Given the description of an element on the screen output the (x, y) to click on. 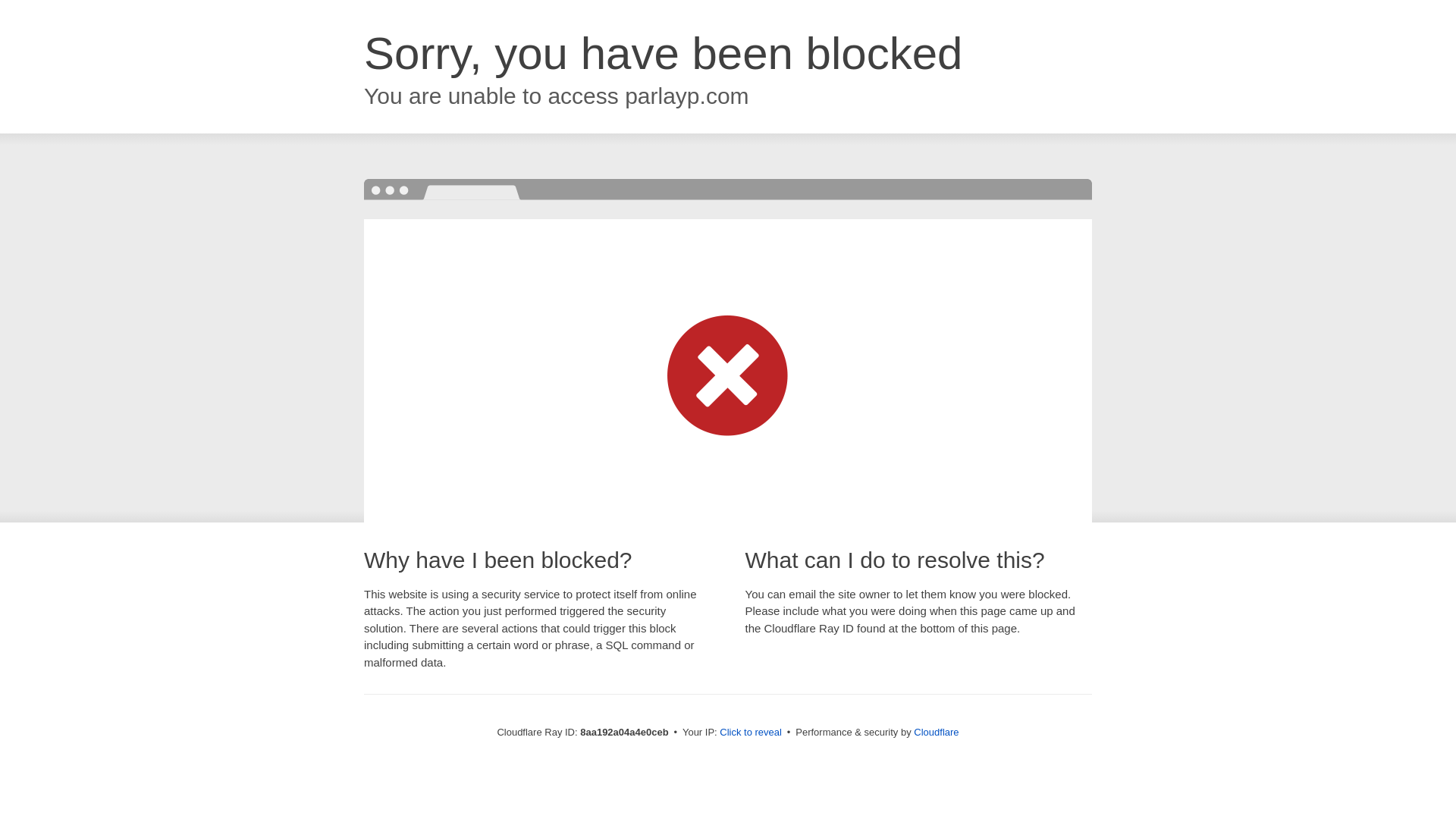
Cloudflare (936, 731)
Click to reveal (750, 732)
